Given the description of an element on the screen output the (x, y) to click on. 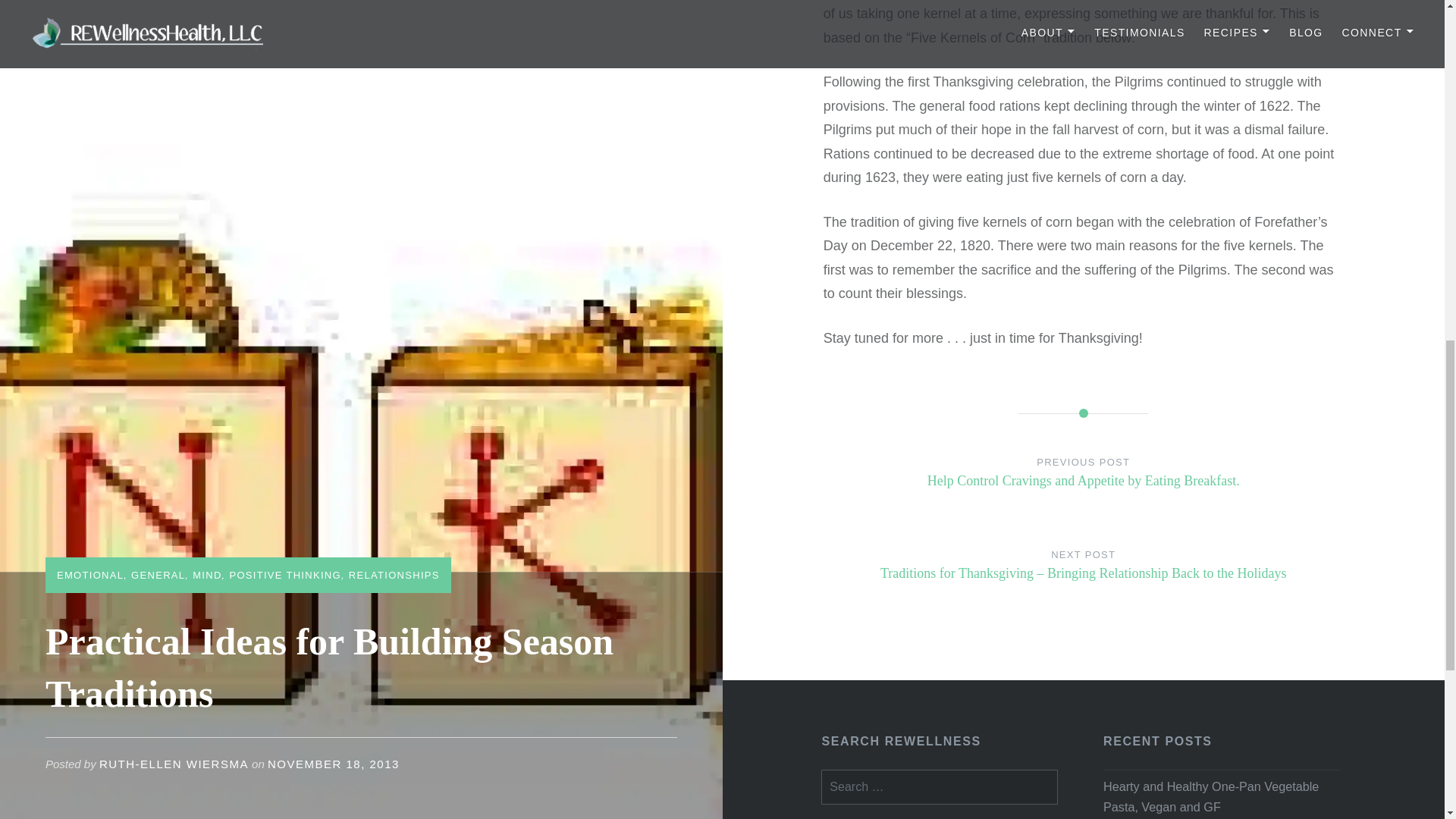
Hearty and Healthy One-Pan Vegetable Pasta, Vegan and GF (1221, 795)
